Given the description of an element on the screen output the (x, y) to click on. 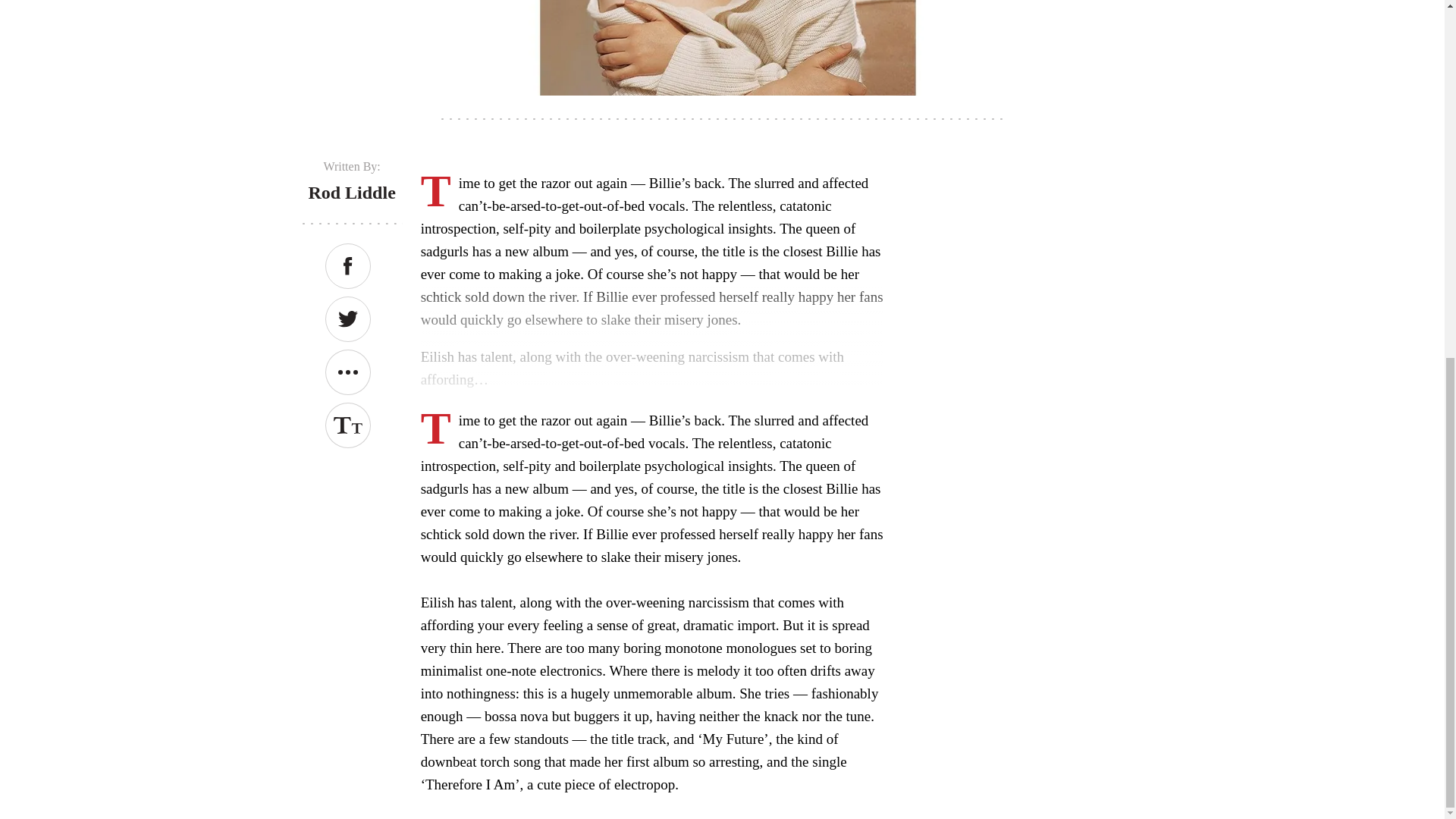
Rod Liddle (350, 192)
